Given the description of an element on the screen output the (x, y) to click on. 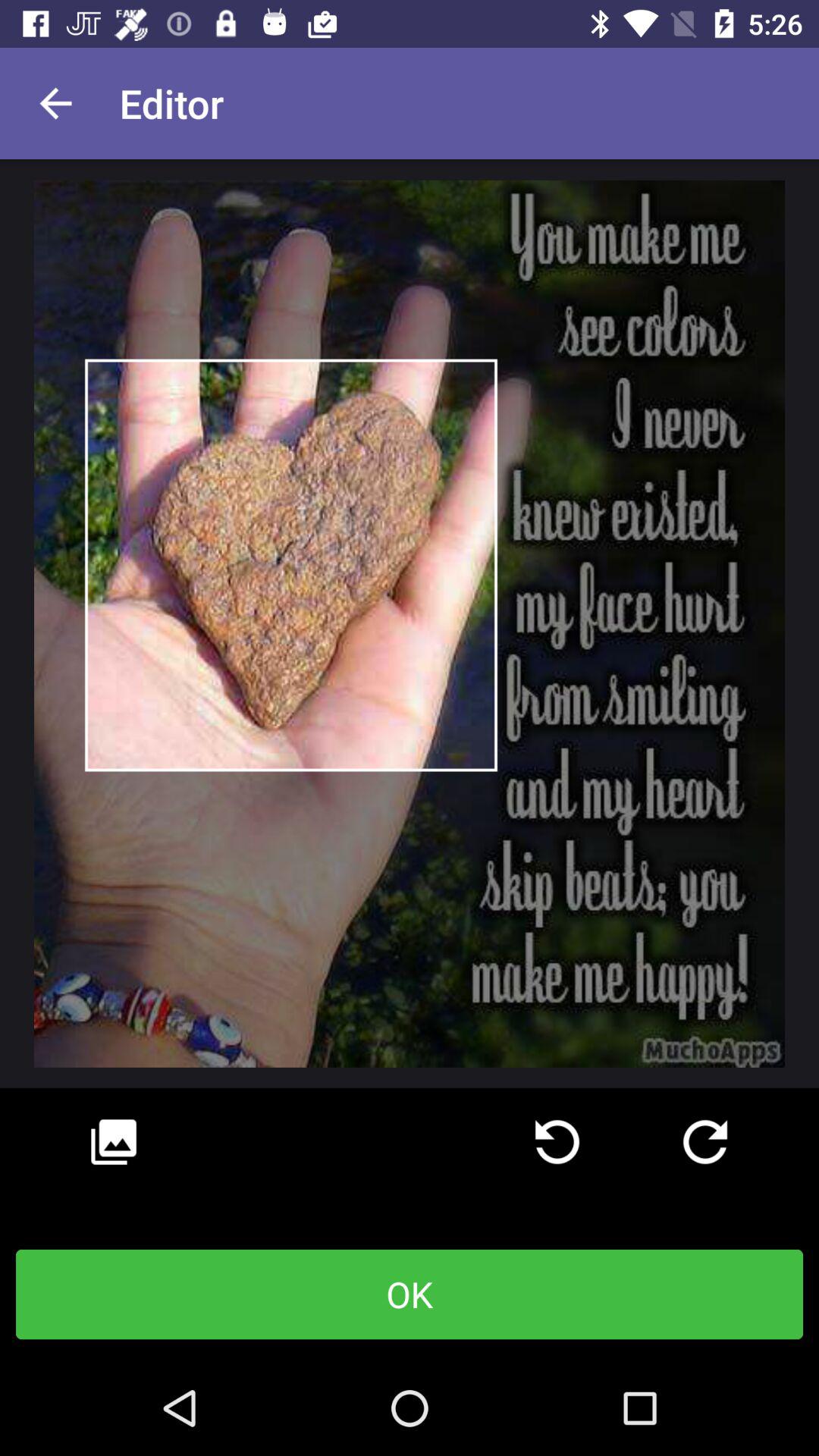
go next (705, 1142)
